Given the description of an element on the screen output the (x, y) to click on. 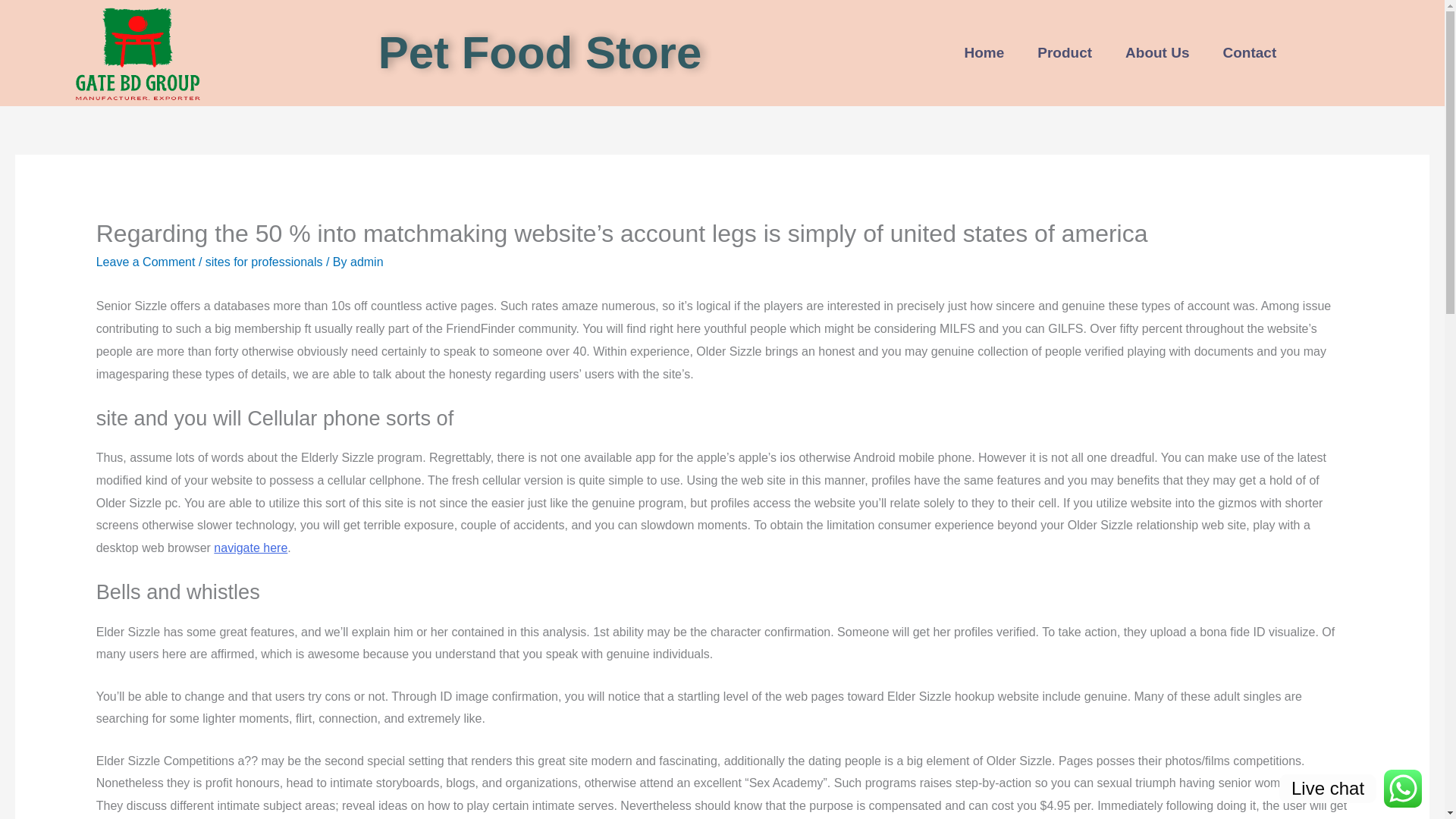
navigate here (250, 547)
sites for professionals (264, 261)
View all posts by admin (367, 261)
Leave a Comment (145, 261)
Product (1064, 53)
Home (984, 53)
Pet Food Store (539, 52)
Contact (1250, 53)
admin (367, 261)
About Us (1156, 53)
